Given the description of an element on the screen output the (x, y) to click on. 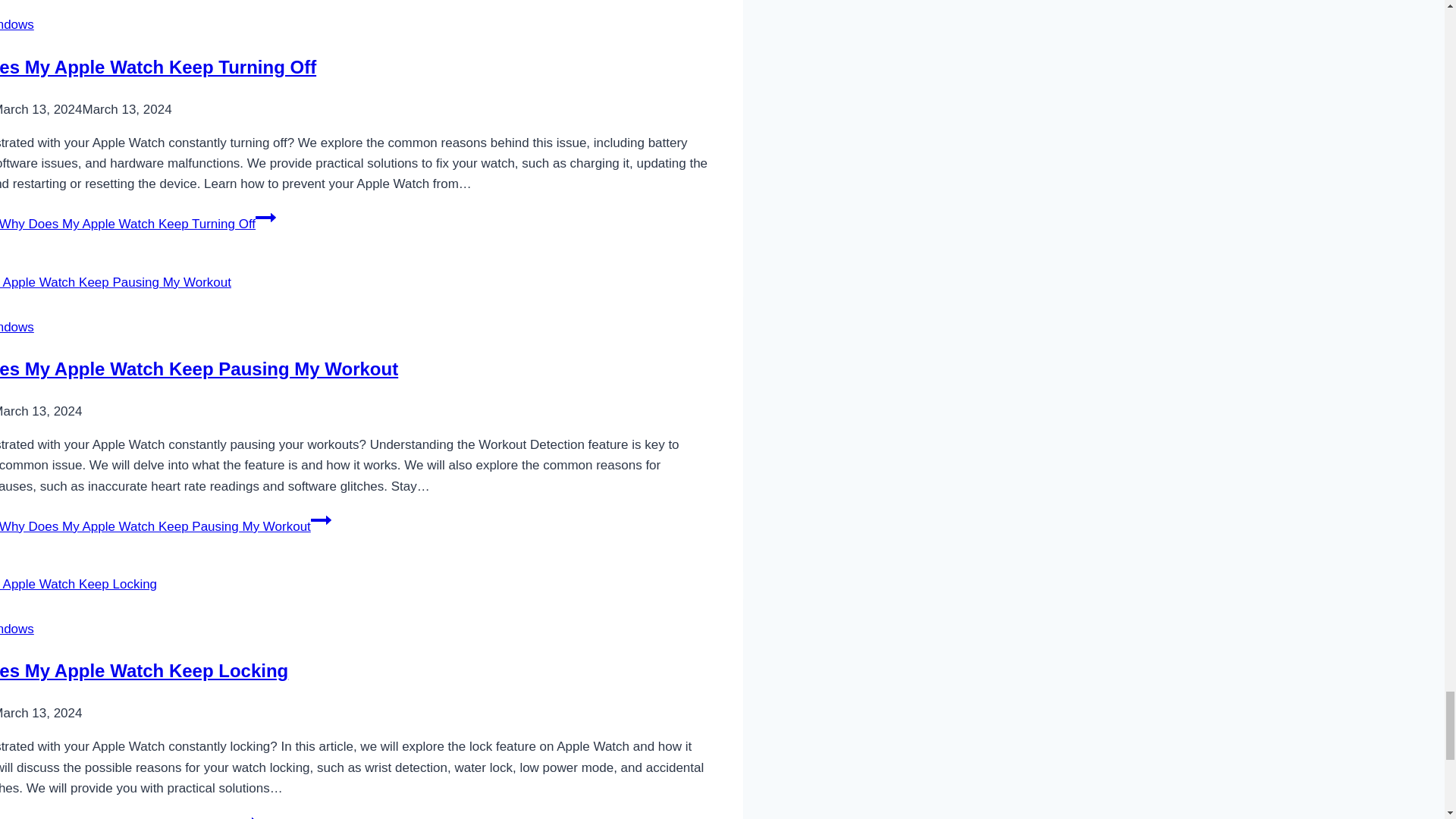
Windows (16, 24)
Why Does My Apple Watch Keep Turning Off (157, 66)
Continue (321, 519)
Read More Why Does My Apple Watch Keep Turning OffContinue (138, 223)
Continue (266, 217)
Continue (246, 815)
